Given the description of an element on the screen output the (x, y) to click on. 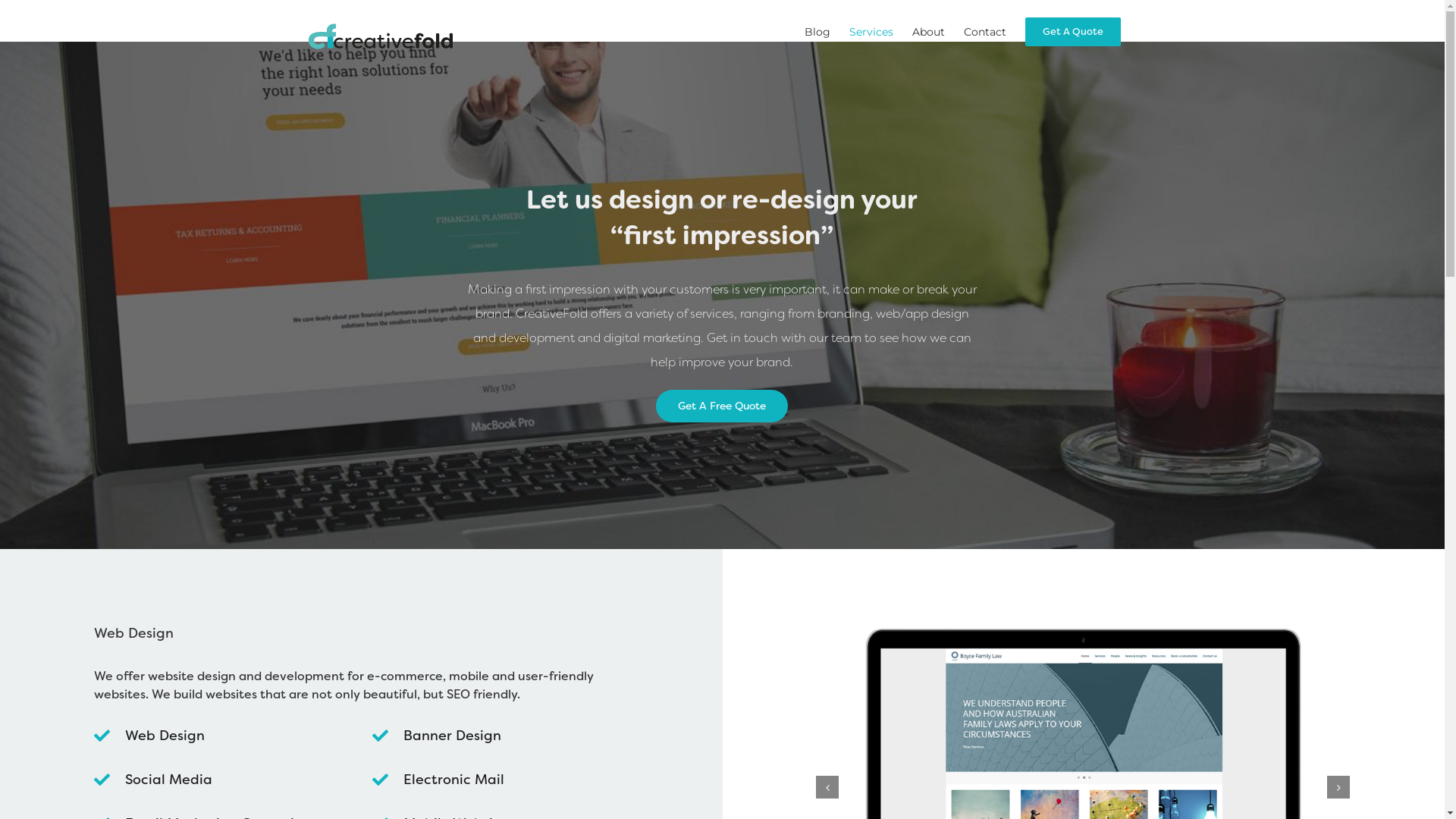
About Element type: text (927, 31)
Blog Element type: text (816, 31)
Services Element type: text (871, 31)
Contact Element type: text (984, 31)
Get A Free Quote Element type: text (721, 405)
Get A Quote Element type: text (1072, 31)
